Given the description of an element on the screen output the (x, y) to click on. 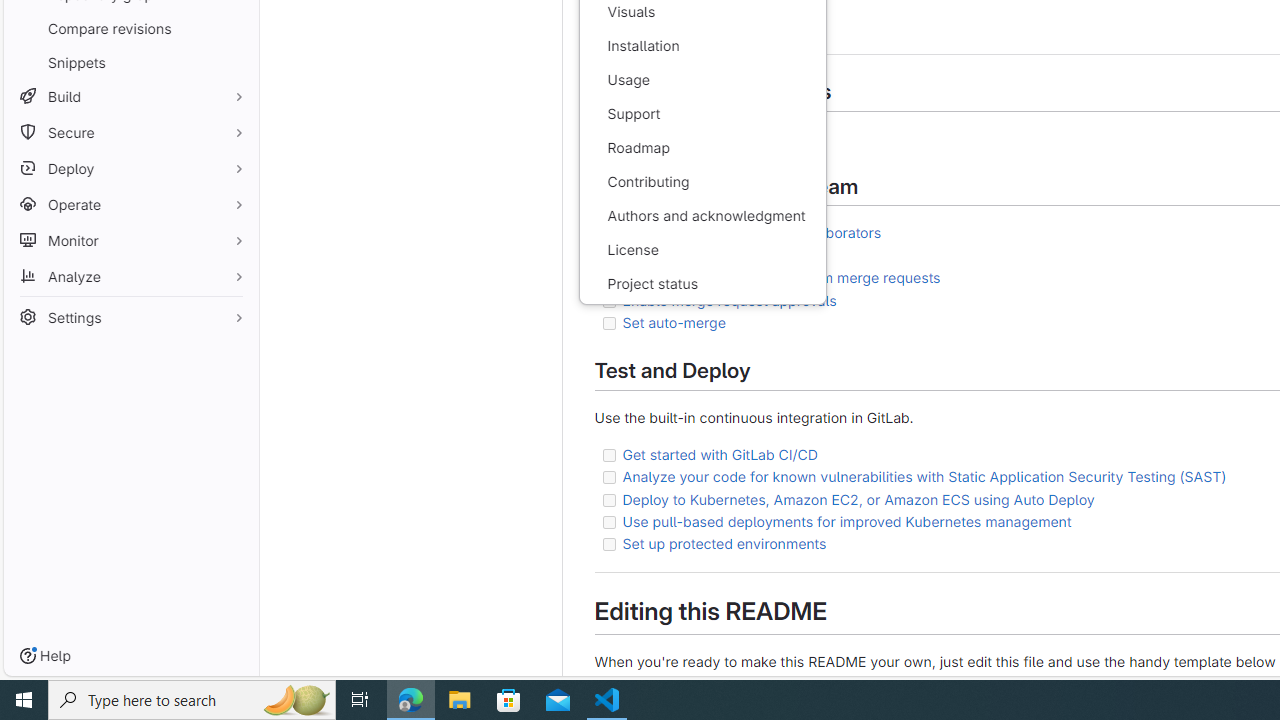
License (701, 249)
Compare revisions (130, 28)
Roadmap (701, 147)
Authors and acknowledgment (701, 215)
Get started with GitLab CI/CD (719, 453)
Contributing (701, 182)
Enable merge request approvals (729, 299)
Set auto-merge (673, 322)
Project status (701, 283)
